Given the description of an element on the screen output the (x, y) to click on. 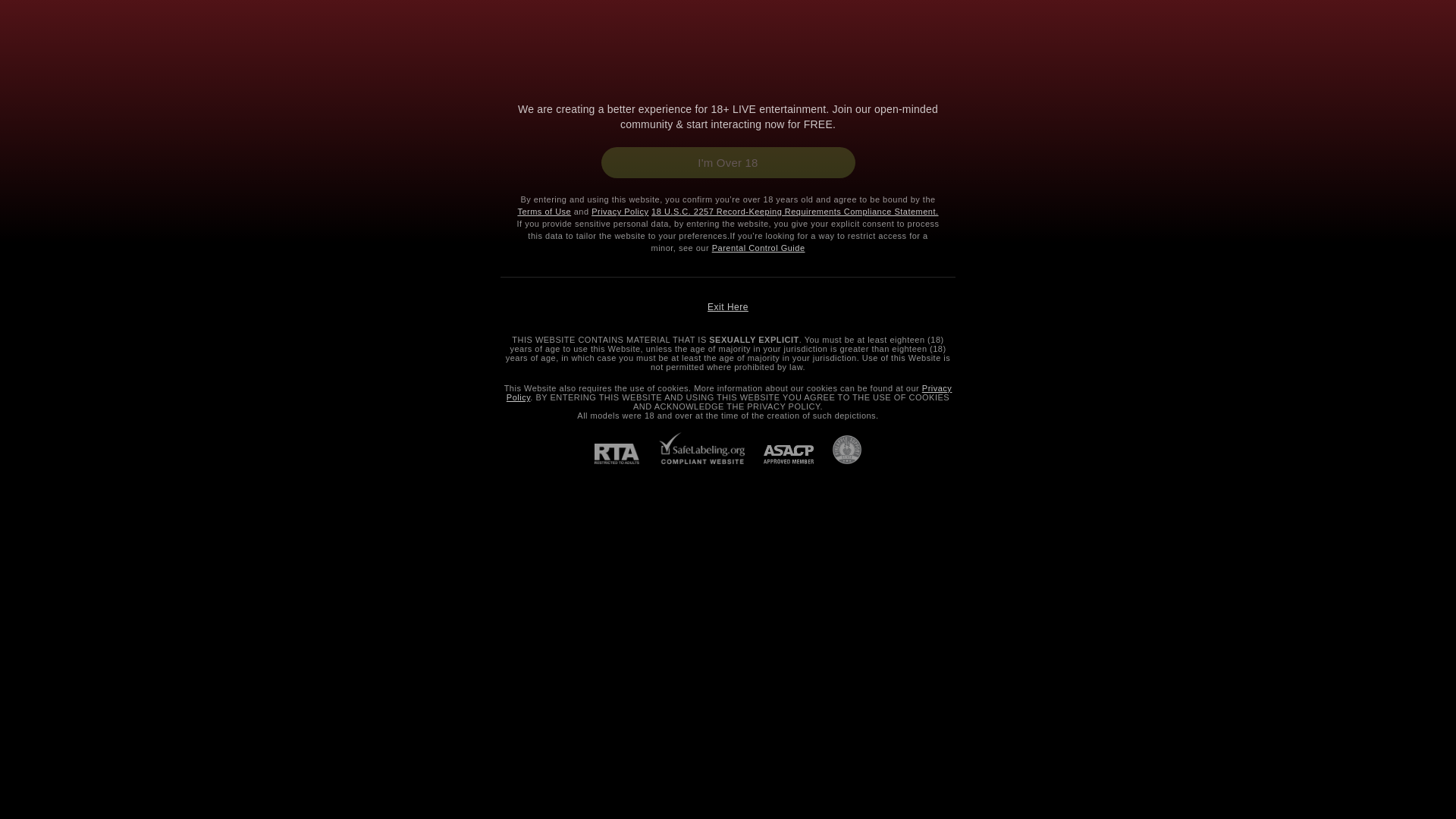
I'm Over 18 (726, 162)
Parental Control Guide (758, 247)
Exit Here (619, 211)
Terms of Use (727, 307)
Privacy Policy (543, 211)
Online (729, 393)
